Given the description of an element on the screen output the (x, y) to click on. 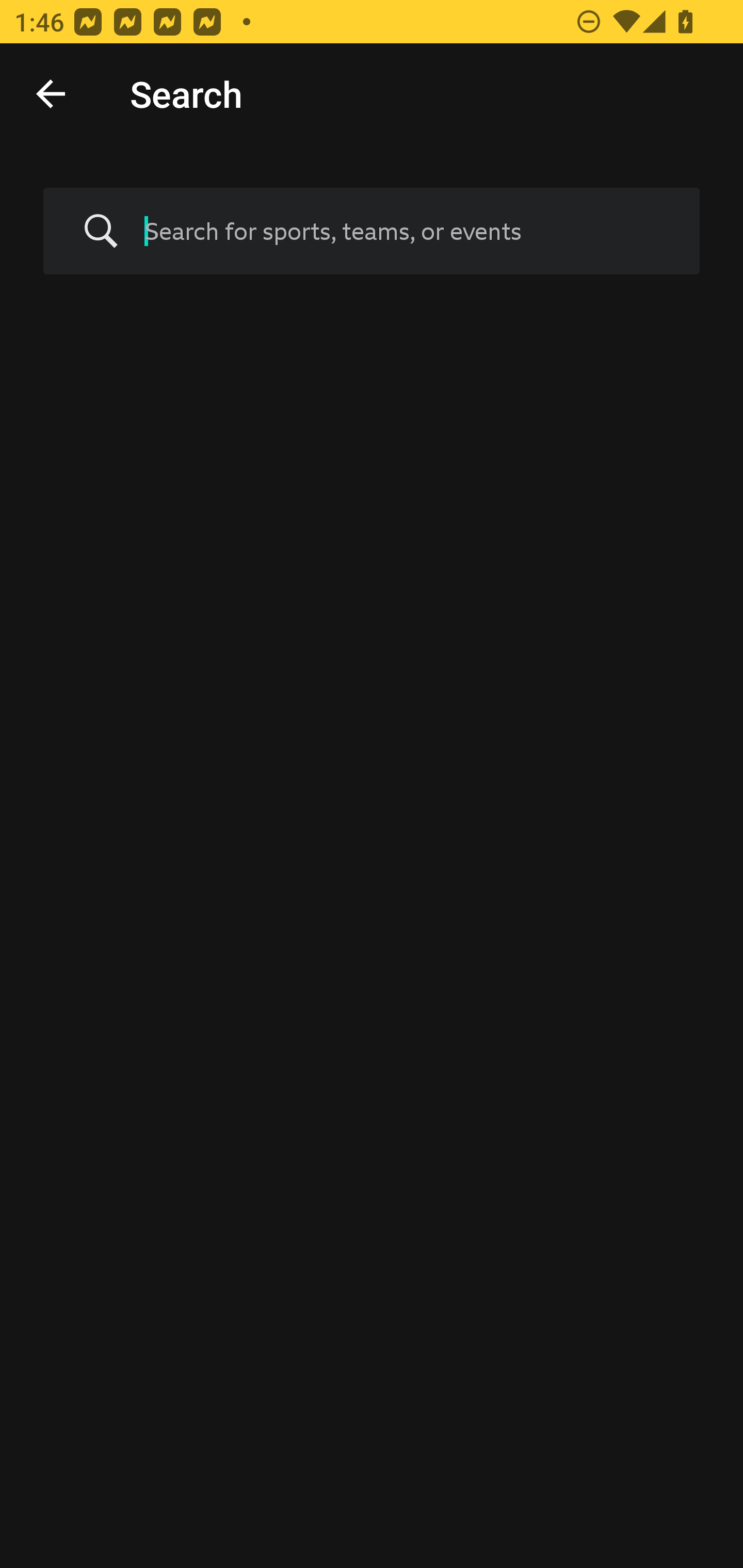
Done (50, 93)
Search for sports, teams, or events (371, 231)
Search for sports, teams, or events (407, 231)
